Given the description of an element on the screen output the (x, y) to click on. 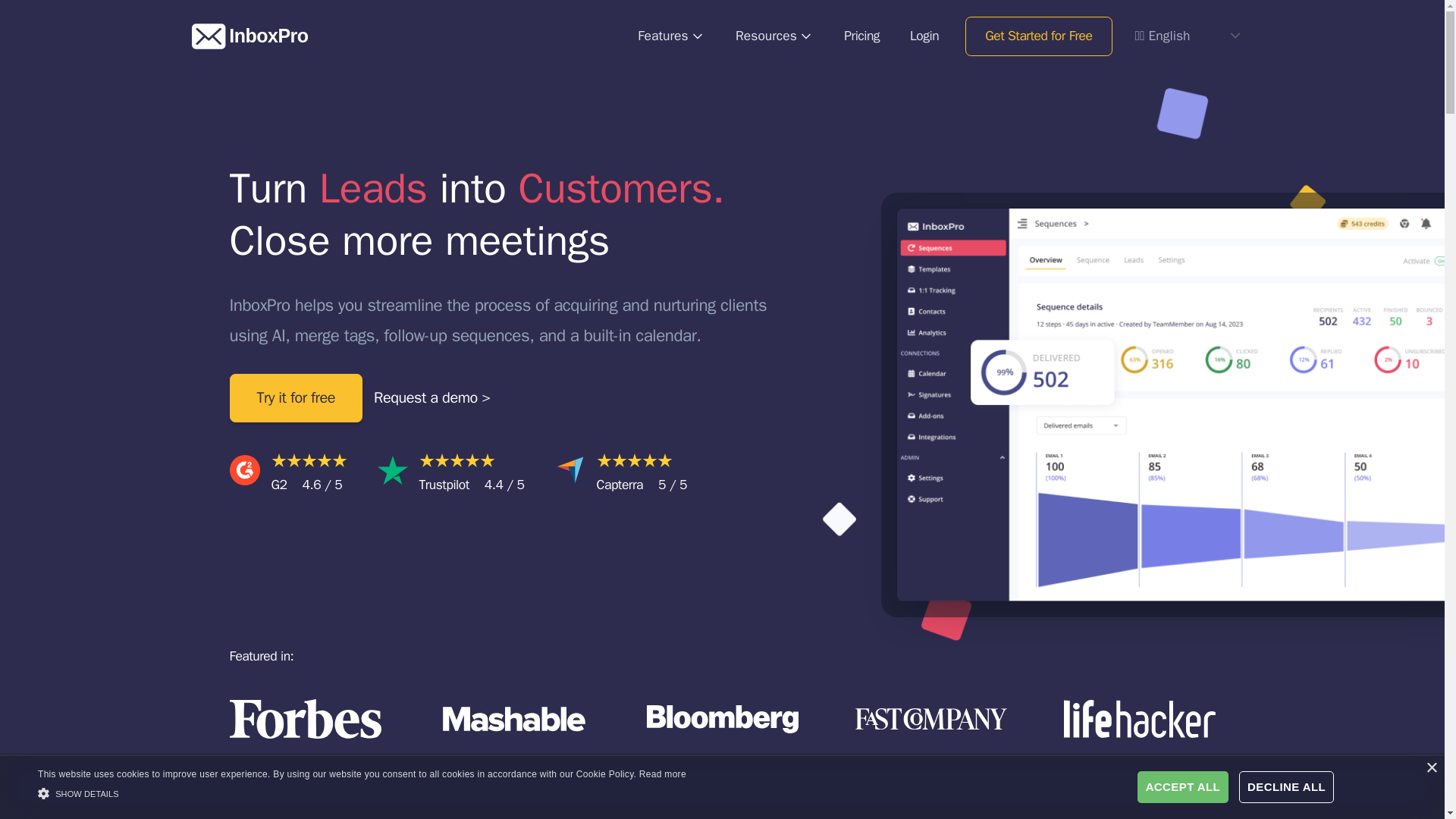
InboxPro (248, 35)
Login (924, 35)
Pricing (861, 35)
InboxPro logo (207, 35)
Resources (774, 36)
Features (670, 36)
Try it for free (295, 397)
Get Started for Free (1038, 36)
